Given the description of an element on the screen output the (x, y) to click on. 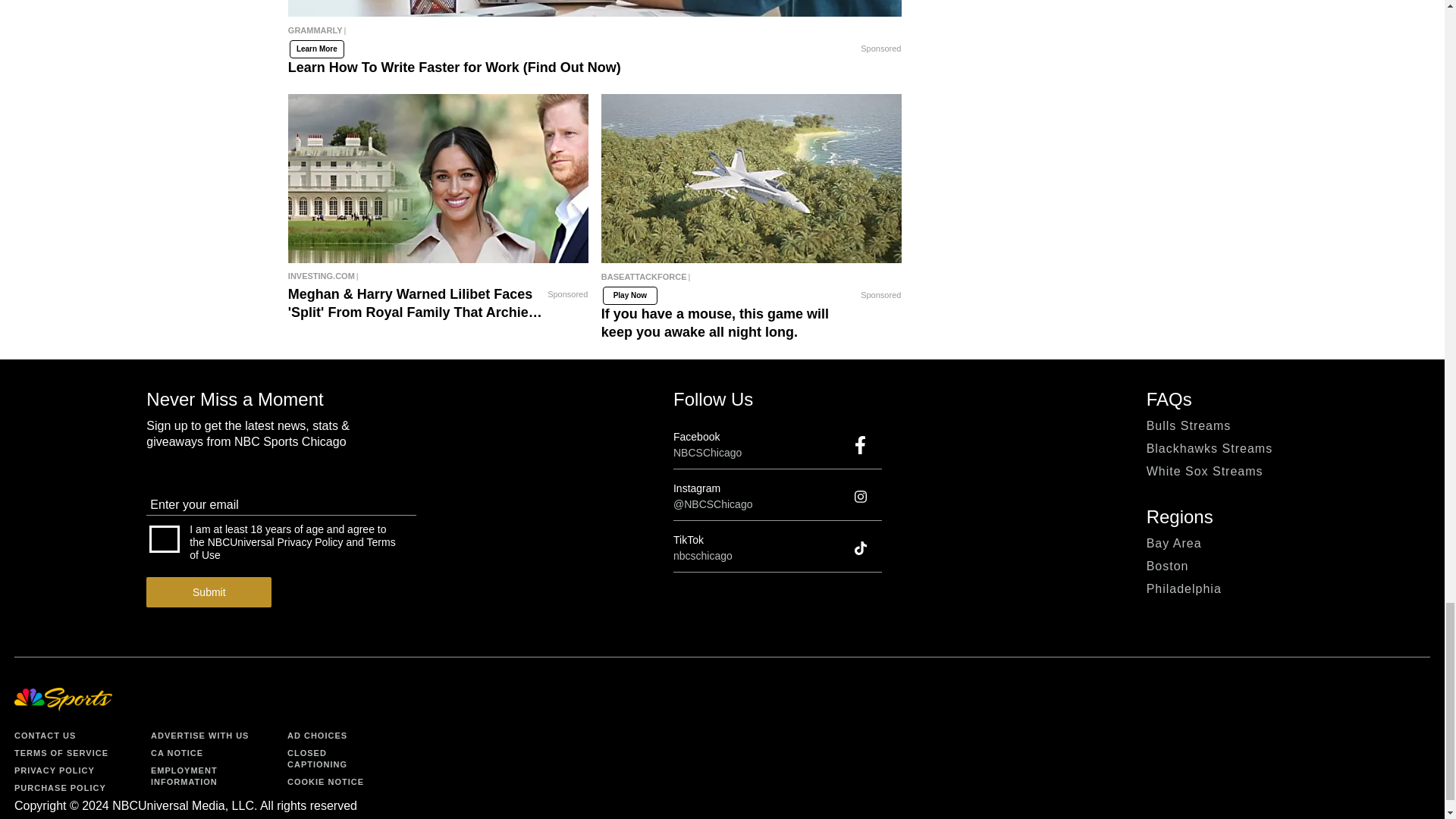
on (164, 538)
